Given the description of an element on the screen output the (x, y) to click on. 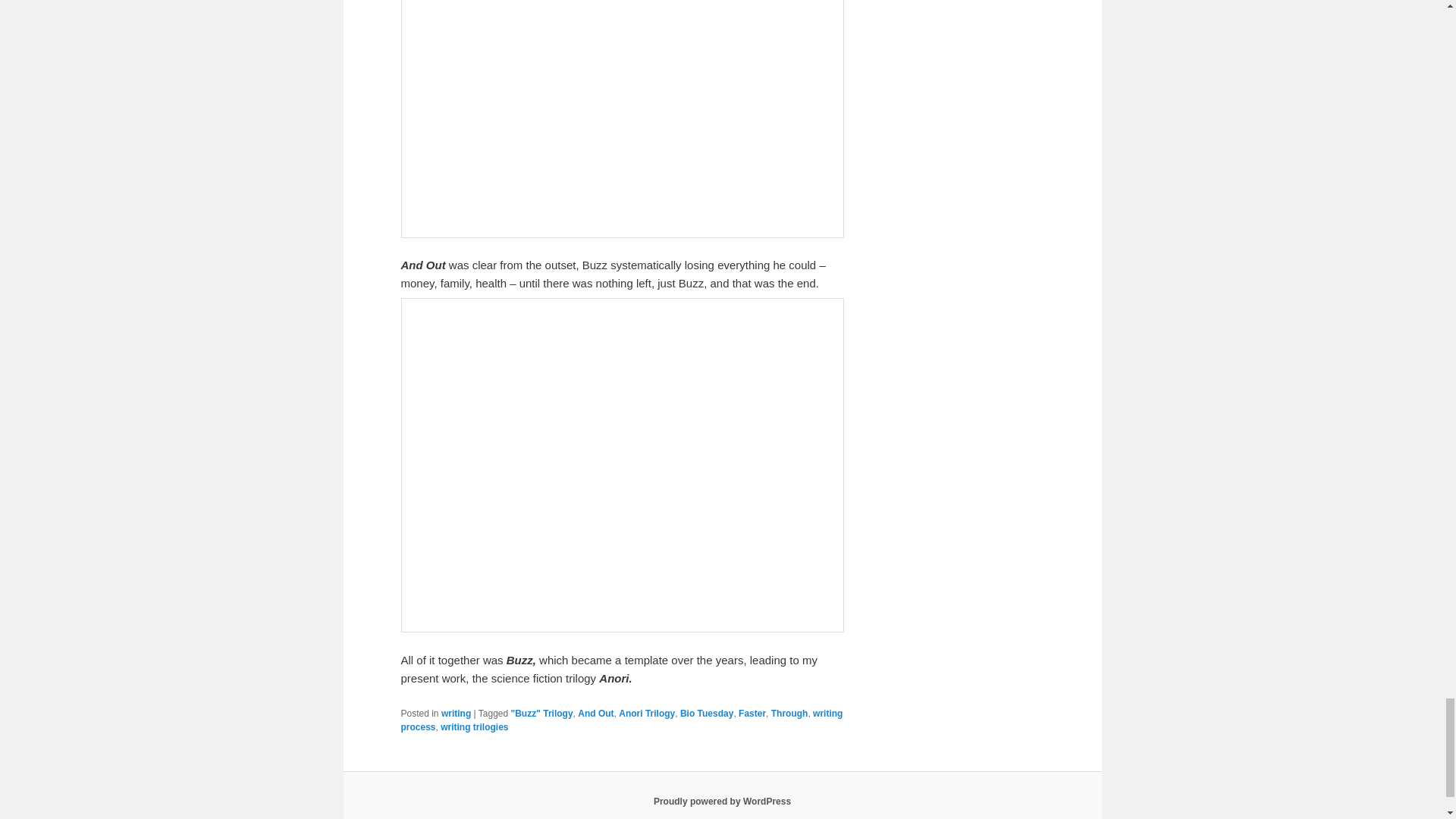
Semantic Personal Publishing Platform (721, 801)
